Given the description of an element on the screen output the (x, y) to click on. 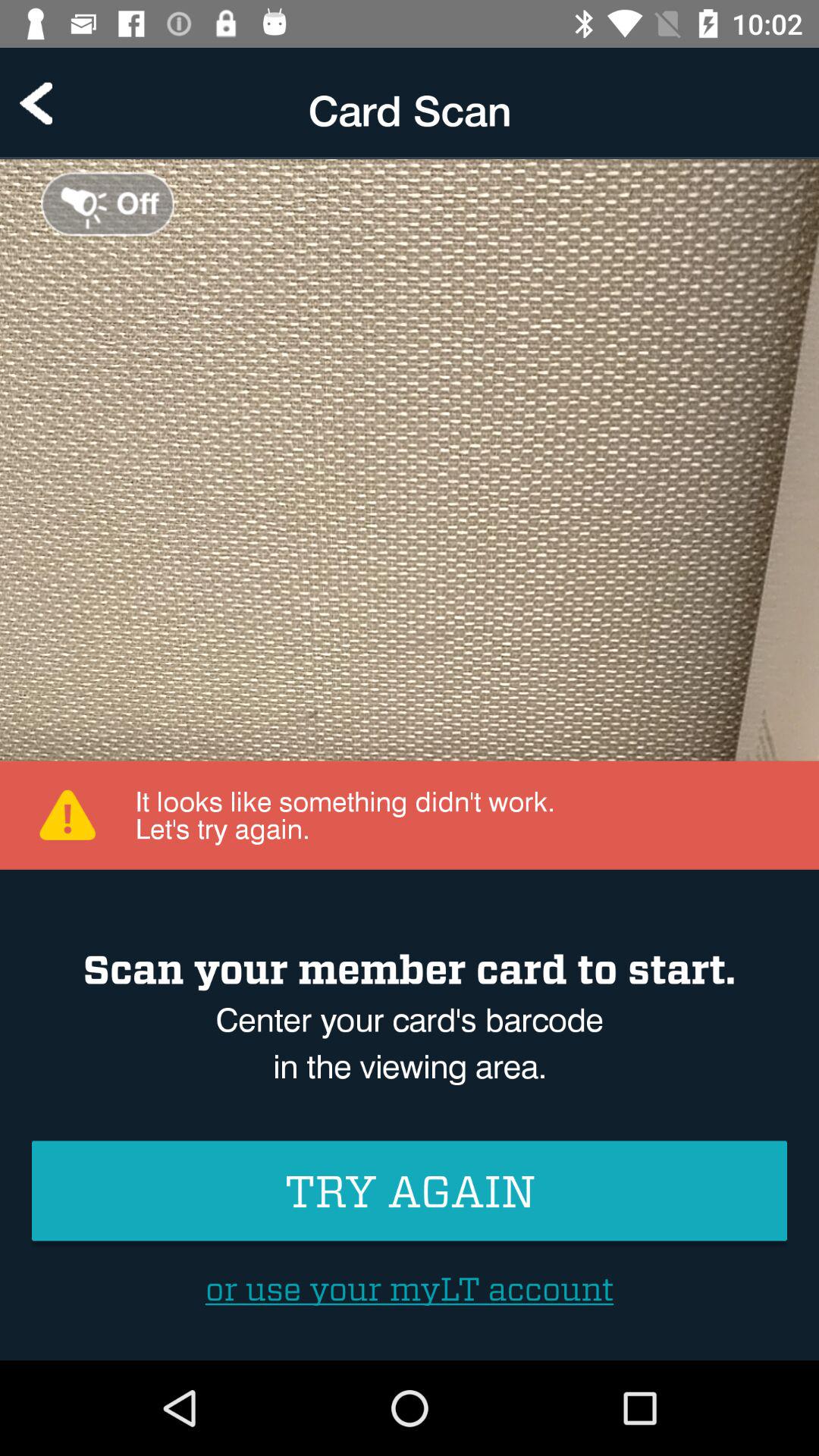
turn off light (107, 204)
